Given the description of an element on the screen output the (x, y) to click on. 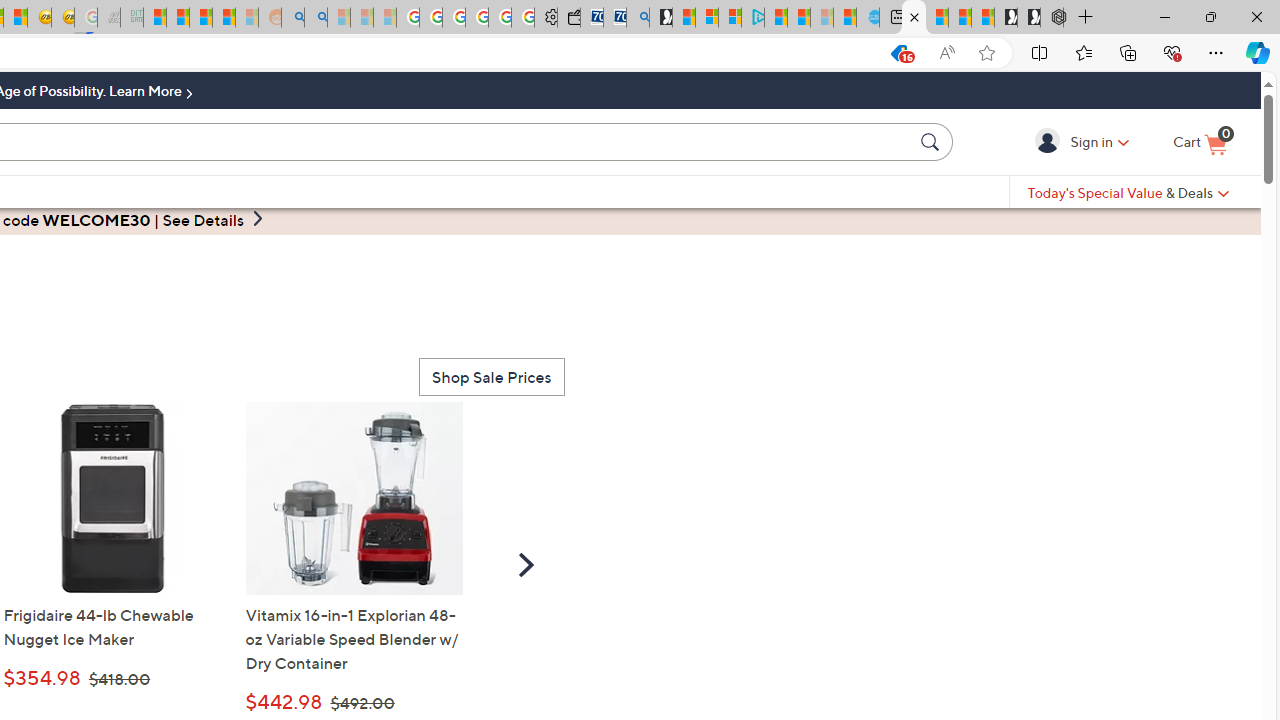
Student Loan Update: Forgiveness Program Ends This Month (223, 17)
Nordace - Nordace Siena Is Not An Ordinary Backpack (1051, 17)
Wallet (568, 17)
Today's Special Value & Deals (1128, 192)
Scroll Right (525, 564)
Bing Real Estate - Home sales and rental listings (637, 17)
